Given the description of an element on the screen output the (x, y) to click on. 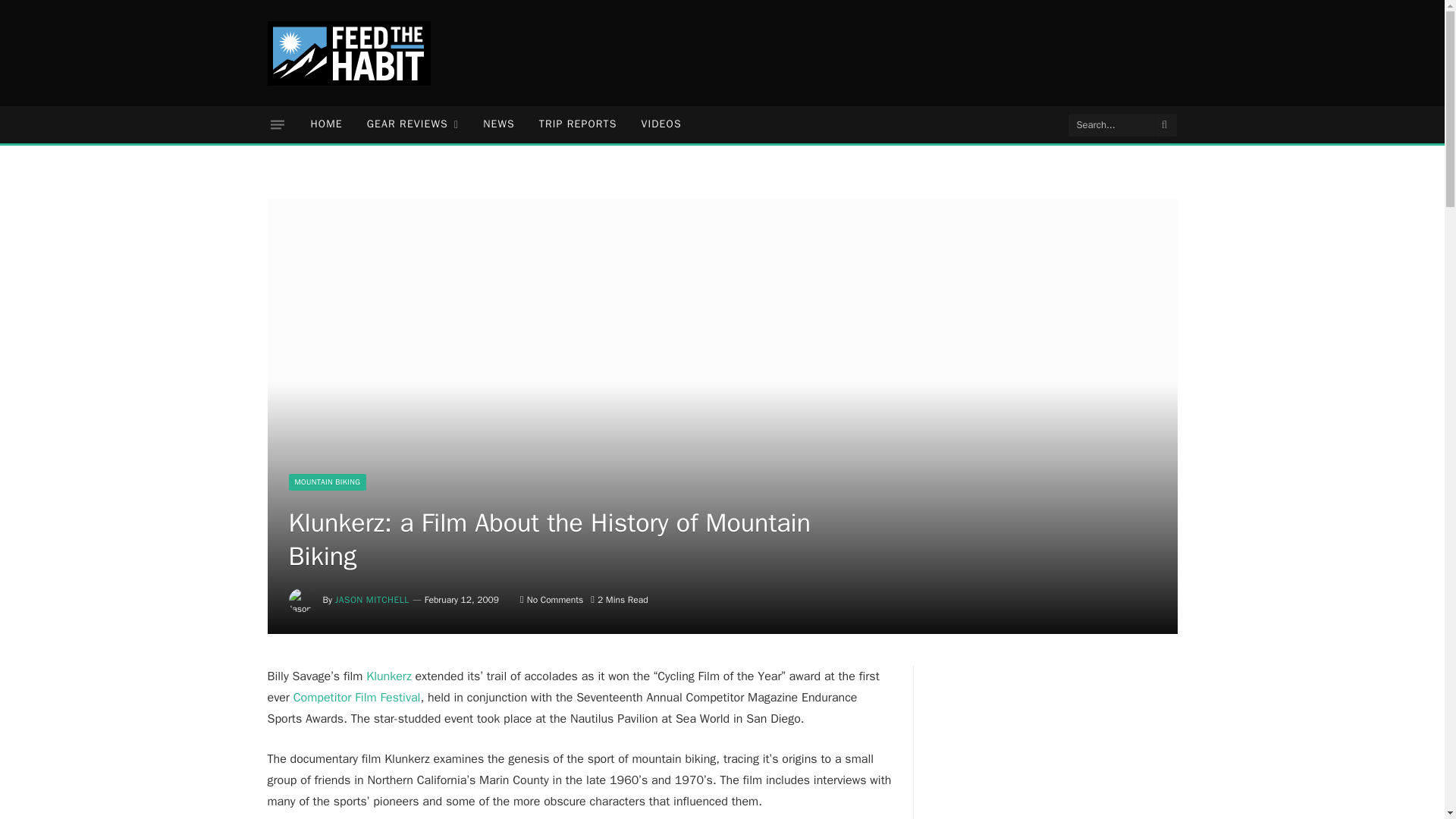
Competitor Film Festival (357, 697)
FeedTheHabit.com (347, 53)
TRIP REPORTS (577, 124)
VIDEOS (661, 124)
MOUNTAIN BIKING (327, 482)
GEAR REVIEWS (412, 124)
Klunkerz (388, 676)
NEWS (498, 124)
Posts by Jason Mitchell (371, 599)
HOME (326, 124)
JASON MITCHELL (371, 599)
No Comments (551, 599)
